Given the description of an element on the screen output the (x, y) to click on. 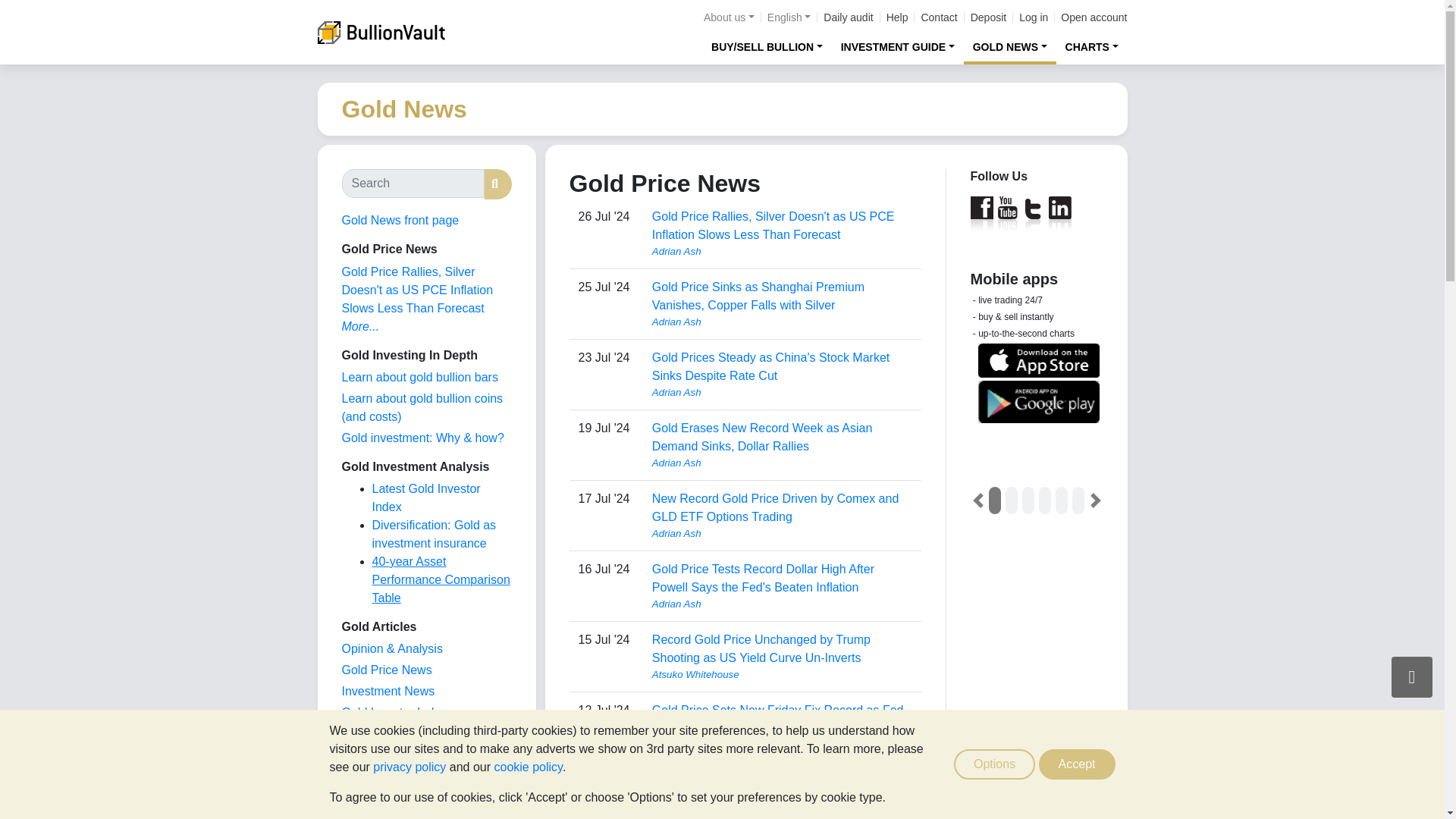
Gold Investor Index (393, 712)
Help (897, 17)
View user profile. (782, 392)
Enter the terms you wish to search for. (411, 183)
Deposit (988, 17)
cookie policy (528, 766)
Log in (1033, 17)
About us (728, 17)
Investment News (386, 690)
Gold in History (380, 775)
INVESTMENT GUIDE (897, 46)
Books about Gold Reviewed (372, 797)
Gold Infographics (387, 733)
Open account (1093, 17)
Market Fundamentals (399, 754)
